Given the description of an element on the screen output the (x, y) to click on. 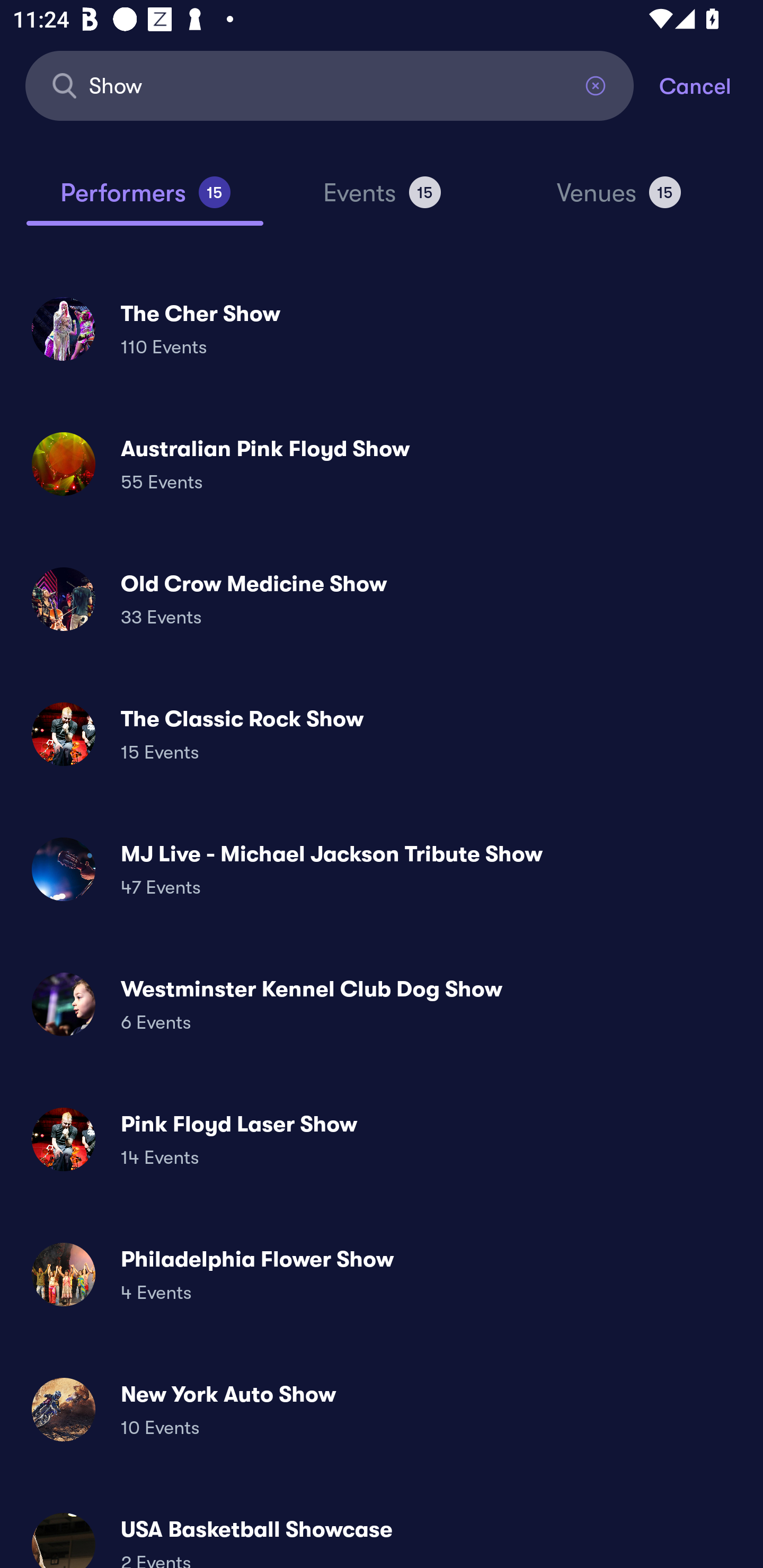
Show Find (329, 85)
Show Find (329, 85)
Cancel (711, 85)
Performers 15 (144, 200)
Events 15 (381, 200)
Venues 15 (618, 200)
The Cher Show 110 Events (381, 328)
Australian Pink Floyd Show 55 Events (381, 464)
Old Crow Medicine Show 33 Events (381, 598)
The Classic Rock Show 15 Events (381, 734)
MJ Live - Michael Jackson Tribute Show 47 Events (381, 869)
Westminster Kennel Club Dog Show 6 Events (381, 1004)
Pink Floyd Laser Show 14 Events (381, 1138)
Philadelphia Flower Show 4 Events (381, 1273)
New York Auto Show 10 Events (381, 1409)
USA Basketball Showcase 2 Events (381, 1532)
